Given the description of an element on the screen output the (x, y) to click on. 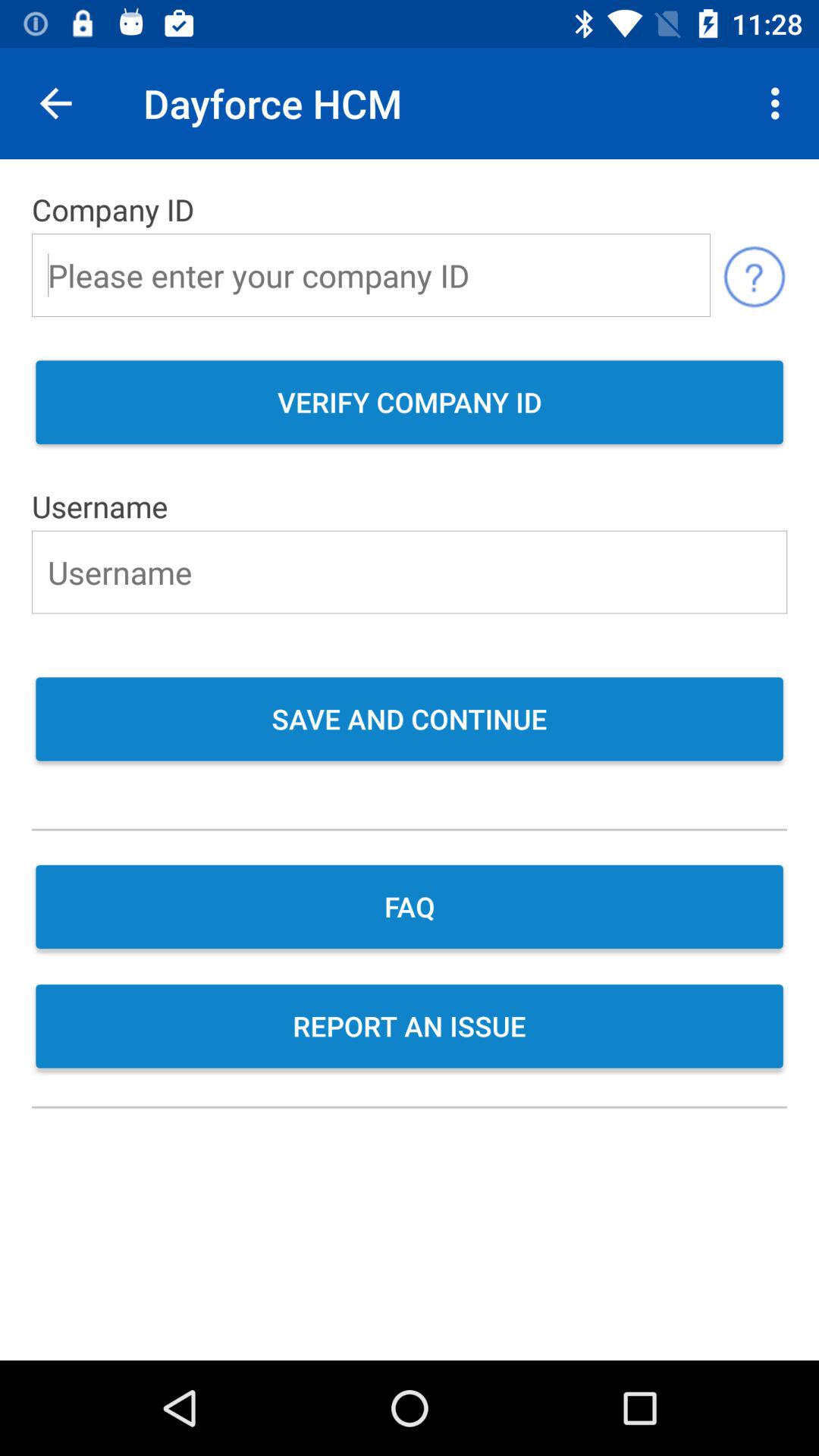
turn on icon above the company id item (55, 103)
